Given the description of an element on the screen output the (x, y) to click on. 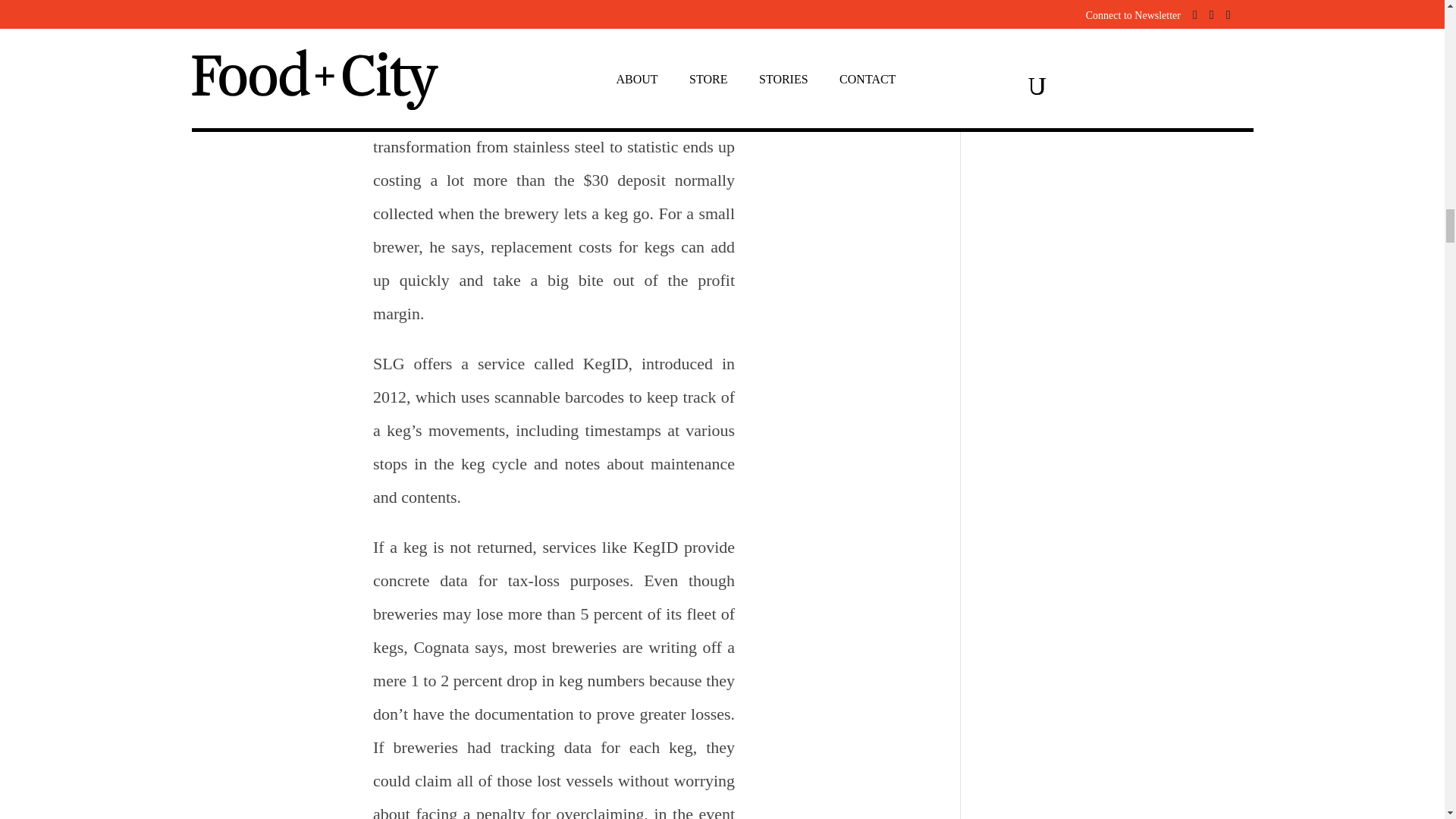
Satellite Logistics Group (538, 113)
